Given the description of an element on the screen output the (x, y) to click on. 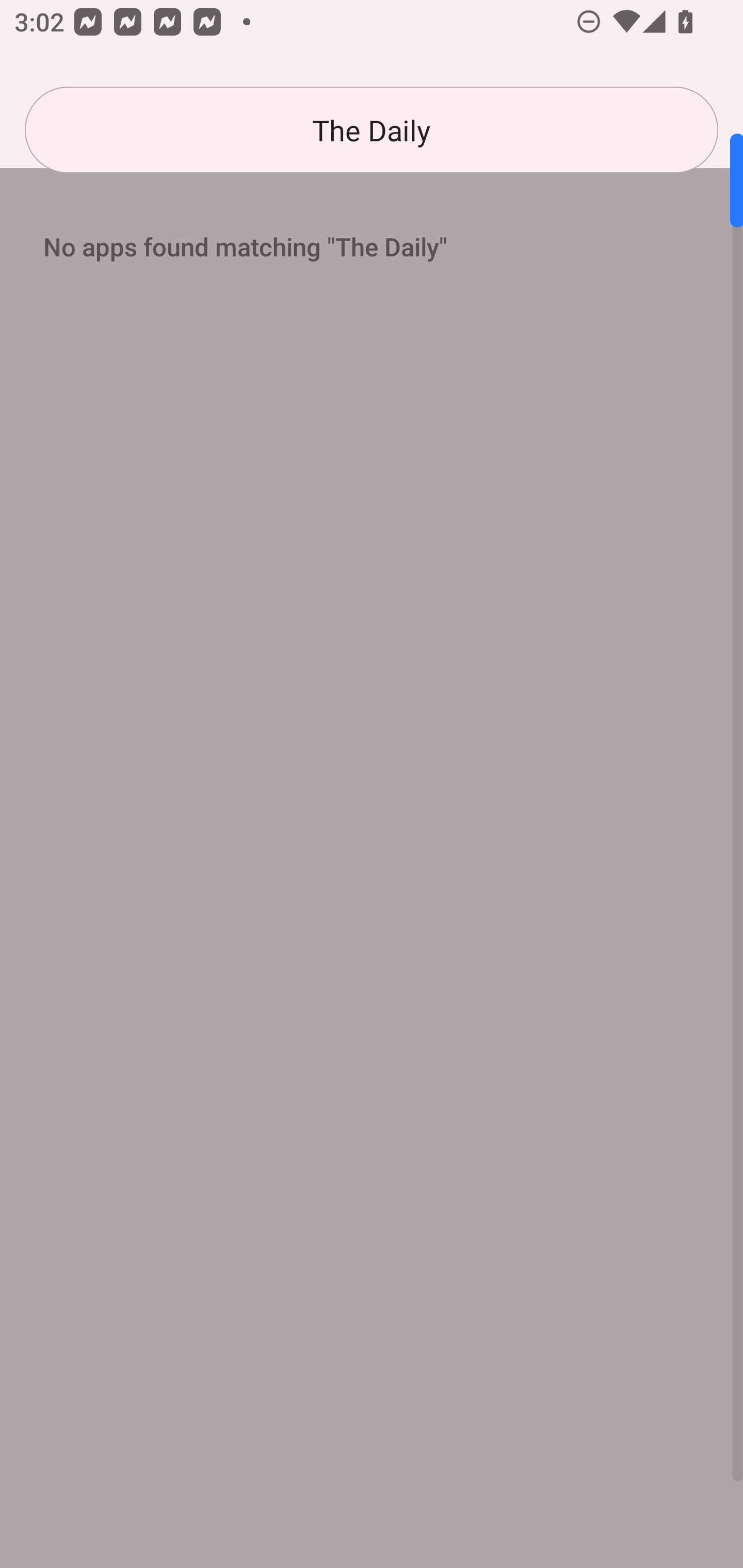
The Daily (371, 130)
